Given the description of an element on the screen output the (x, y) to click on. 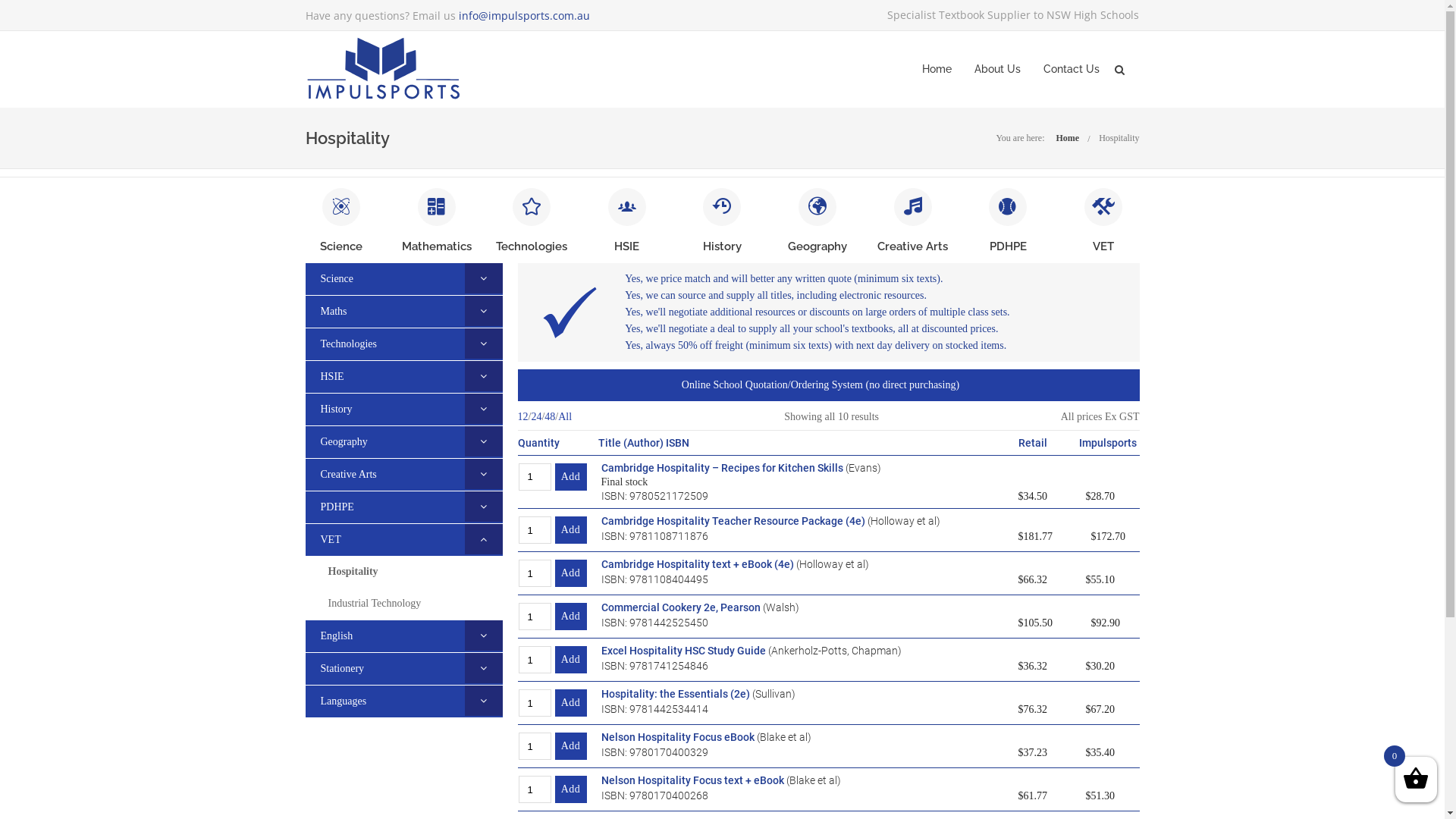
Stationery Element type: text (334, 668)
Creative Arts Element type: text (912, 246)
Science Element type: text (328, 278)
12 Element type: text (522, 417)
Industrial Technology Element type: text (373, 602)
Technologies Element type: text (531, 246)
Add Element type: text (570, 572)
24 Element type: text (535, 417)
Qty Element type: hover (534, 702)
Qty Element type: hover (534, 745)
Add Element type: text (570, 529)
Contact Us Element type: text (1071, 69)
Hospitality Element type: text (1118, 137)
PDHPE Element type: text (1007, 246)
Hospitality Element type: text (352, 571)
English Element type: text (328, 635)
HSIE Element type: text (626, 246)
Qty Element type: hover (534, 475)
Add Element type: text (570, 789)
Science Element type: text (341, 246)
Languages Element type: text (335, 700)
Qty Element type: hover (534, 572)
Add Element type: text (570, 702)
Home Element type: text (936, 69)
Add Element type: text (570, 745)
info@impulsports.com.au Element type: text (523, 15)
Maths Element type: text (325, 310)
PDHPE Element type: text (328, 506)
48 Element type: text (549, 417)
History Element type: text (721, 246)
Qty Element type: hover (534, 529)
Add Element type: text (570, 475)
Creative Arts Element type: text (340, 474)
Qty Element type: hover (534, 616)
Mathematics Element type: text (436, 246)
Home Element type: text (1067, 137)
HSIE Element type: text (323, 376)
Qty Element type: hover (534, 789)
Technologies Element type: text (340, 343)
History Element type: text (327, 408)
Qty Element type: hover (534, 659)
VET Element type: text (1102, 246)
Add Element type: text (570, 616)
Geography Element type: text (335, 441)
VET Element type: text (322, 539)
About Us Element type: text (996, 69)
Geography Element type: text (817, 246)
Add Element type: text (570, 659)
All Element type: text (564, 417)
